Given the description of an element on the screen output the (x, y) to click on. 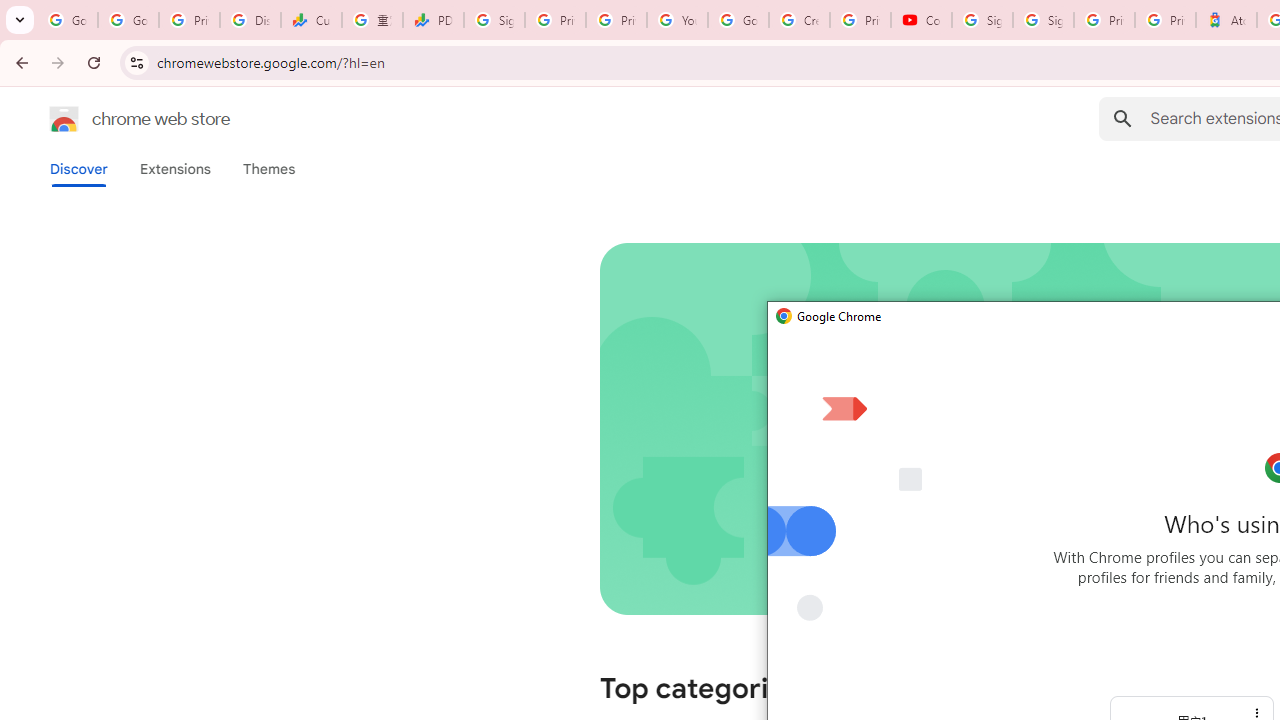
Atour Hotel - Google hotels (1225, 20)
Currencies - Google Finance (310, 20)
Sign in - Google Accounts (493, 20)
Discover (79, 169)
Chrome Web Store logo chrome web store (118, 118)
Google Account Help (738, 20)
PDD Holdings Inc - ADR (PDD) Price & News - Google Finance (433, 20)
